Given the description of an element on the screen output the (x, y) to click on. 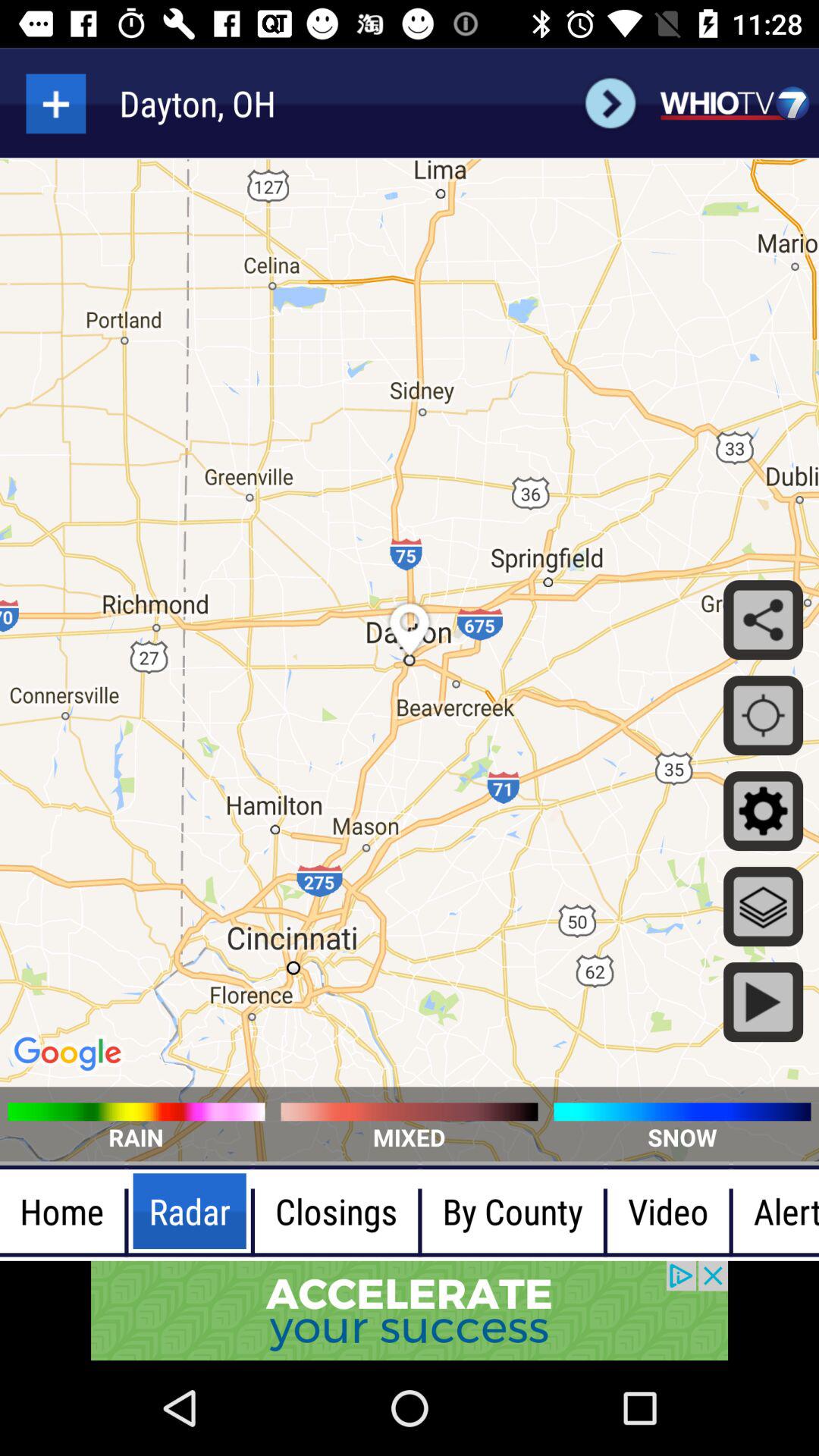
go to whiotv7 (734, 103)
